Given the description of an element on the screen output the (x, y) to click on. 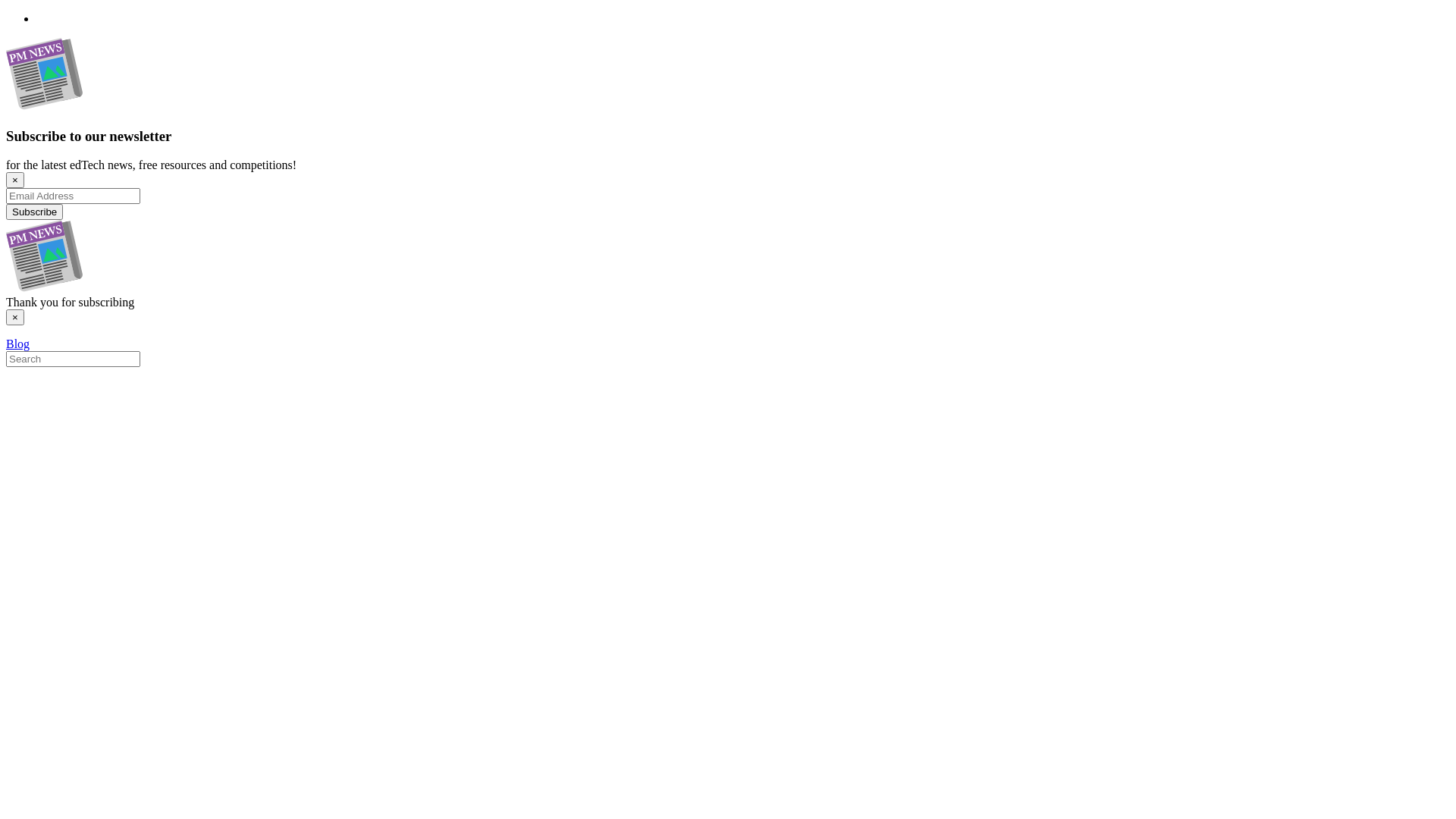
Blog Element type: text (17, 343)
Subscribe Element type: text (34, 211)
